Given the description of an element on the screen output the (x, y) to click on. 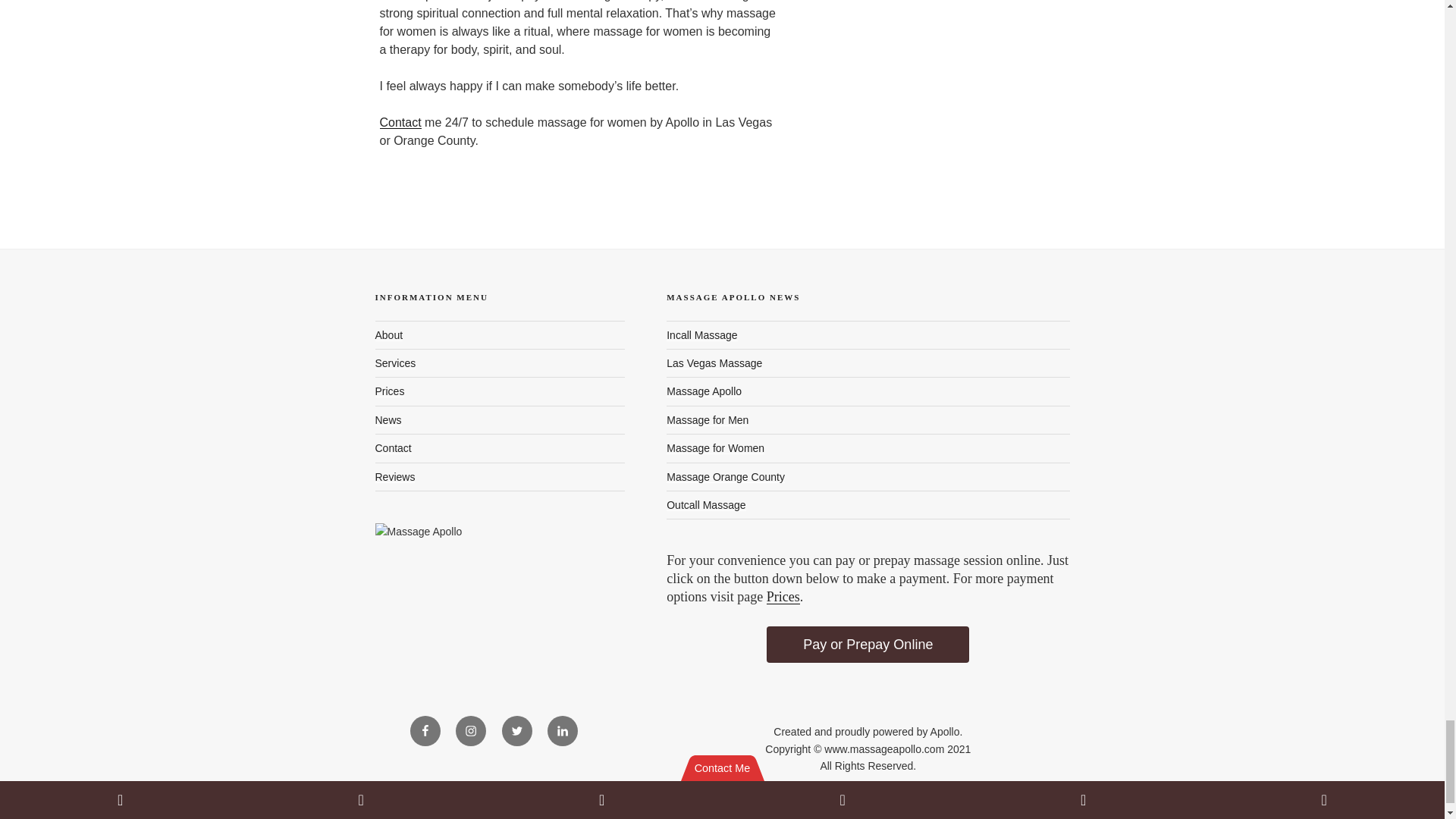
Contact (399, 122)
